Given the description of an element on the screen output the (x, y) to click on. 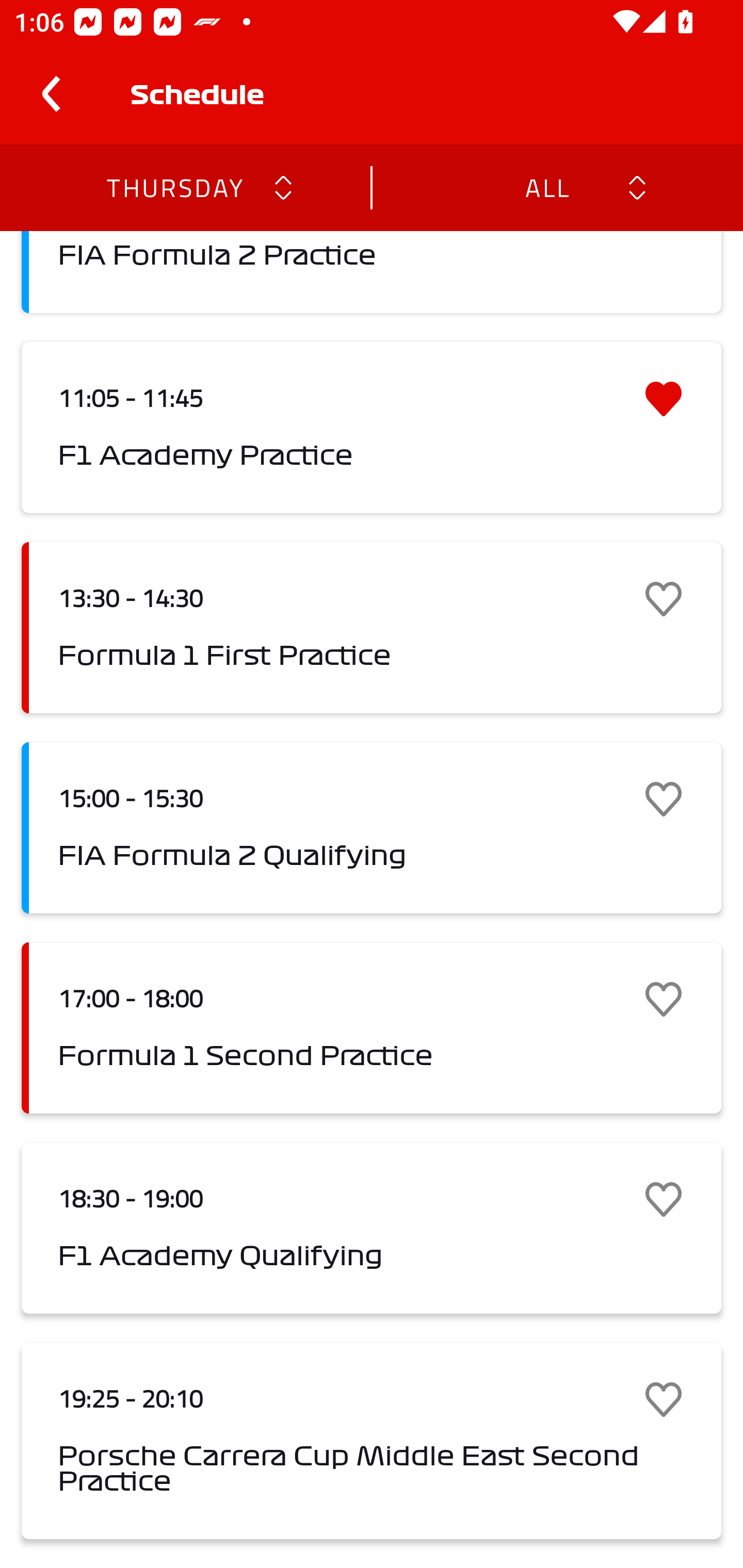
Navigate up (50, 93)
THURSDAY (174, 187)
ALL (546, 187)
FIA Formula 2 Practice (371, 271)
11:05 - 11:45 F1 Academy Practice (371, 426)
13:30 - 14:30 Formula 1 First Practice (371, 627)
15:00 - 15:30 FIA Formula 2 Qualifying (371, 827)
17:00 - 18:00 Formula 1 Second Practice (371, 1027)
18:30 - 19:00 F1 Academy Qualifying (371, 1228)
